Given the description of an element on the screen output the (x, y) to click on. 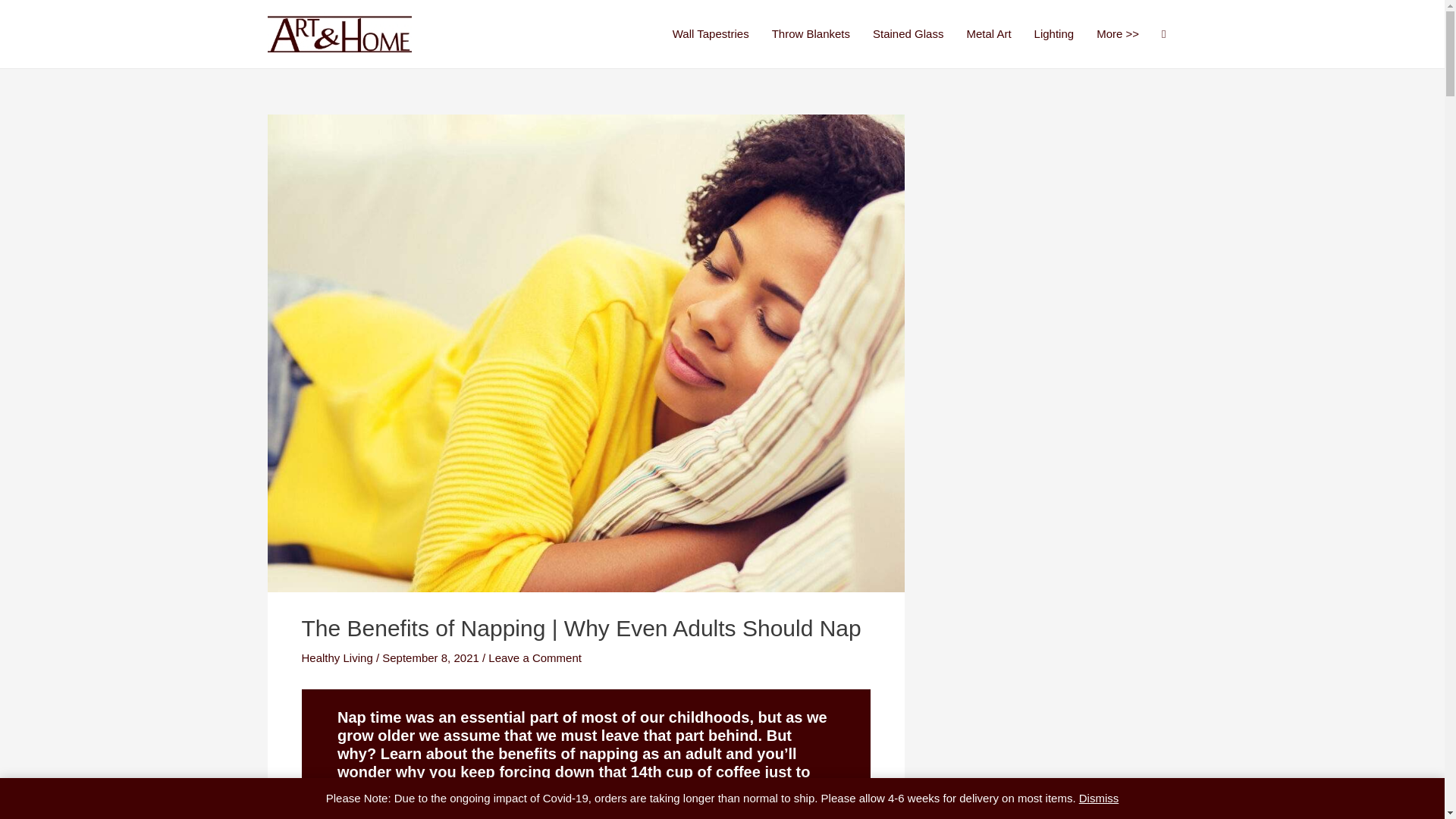
Stained Glass (908, 34)
Leave a Comment (533, 657)
Healthy Living (336, 657)
Metal Art (988, 34)
Throw Blankets (810, 34)
Lighting (1054, 34)
Advertisement (1062, 213)
Wall Tapestries (710, 34)
